Given the description of an element on the screen output the (x, y) to click on. 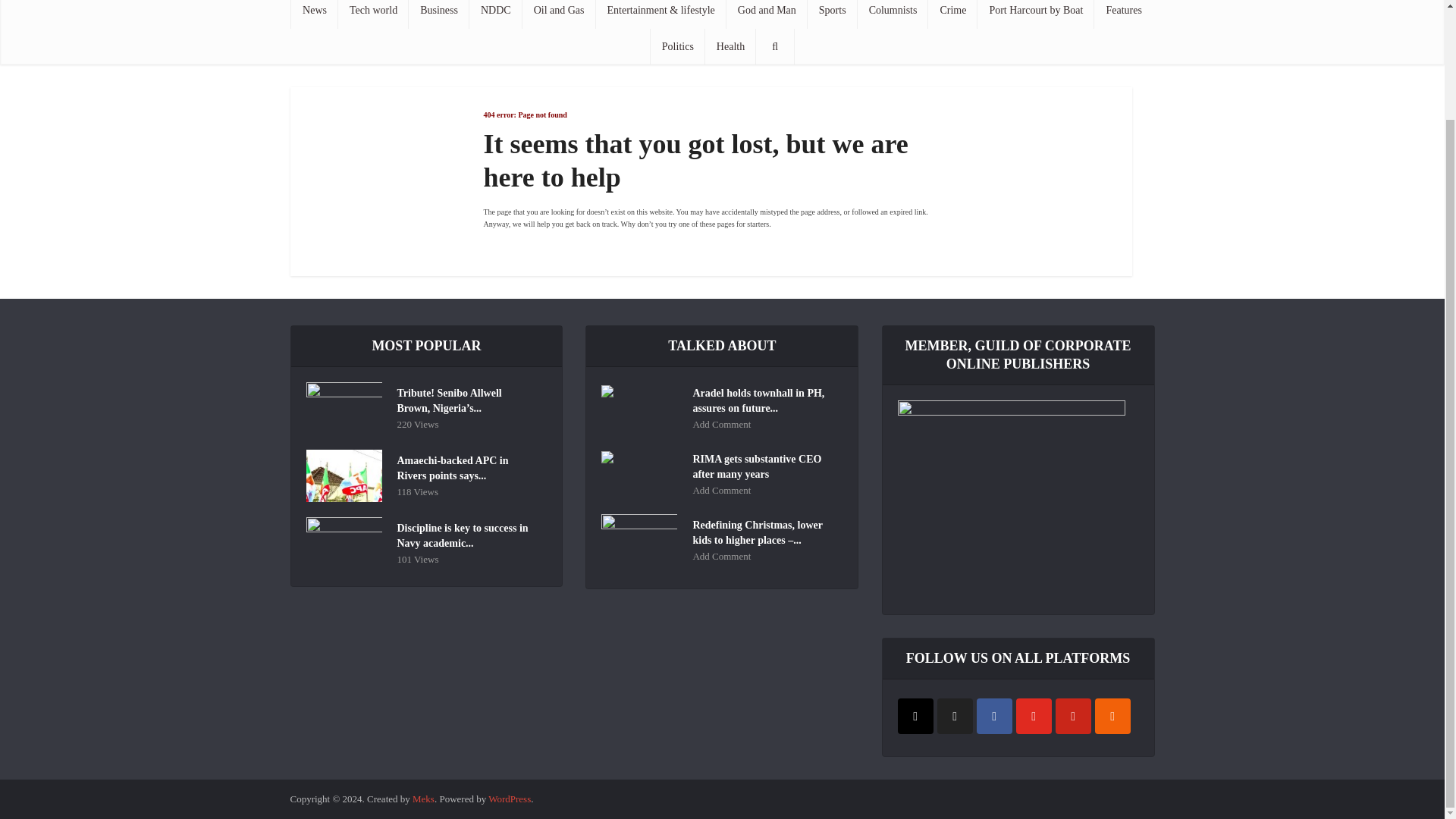
Facebook (993, 715)
Politics (677, 46)
Oil and Gas (558, 14)
Business (438, 14)
YouTube (1033, 715)
Instagram (915, 715)
Sports (832, 14)
Features (1123, 14)
News (314, 14)
